Given the description of an element on the screen output the (x, y) to click on. 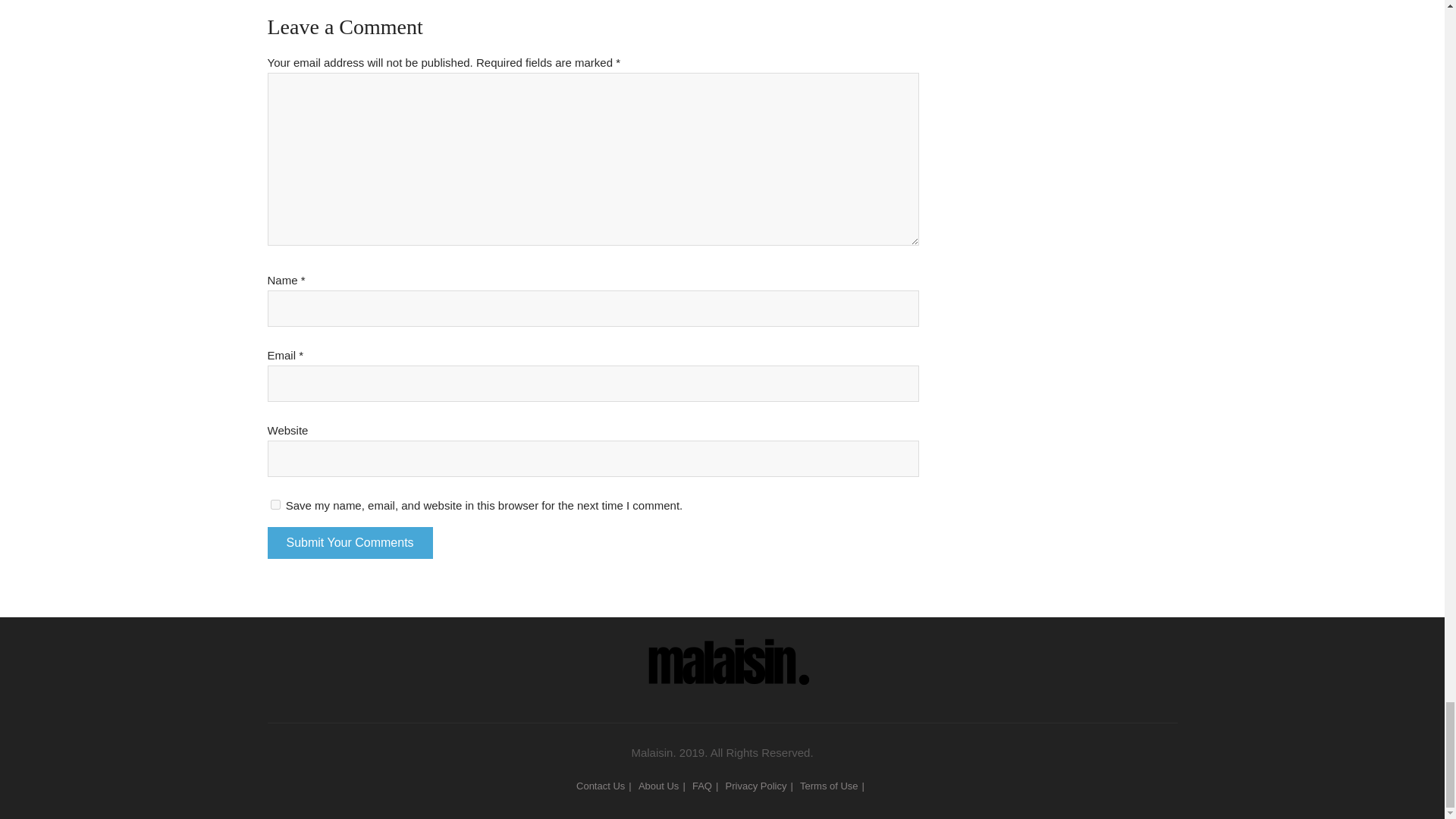
Malaisin (722, 651)
yes (274, 504)
Submit Your Comments (349, 542)
Submit Your Comments (349, 542)
